Given the description of an element on the screen output the (x, y) to click on. 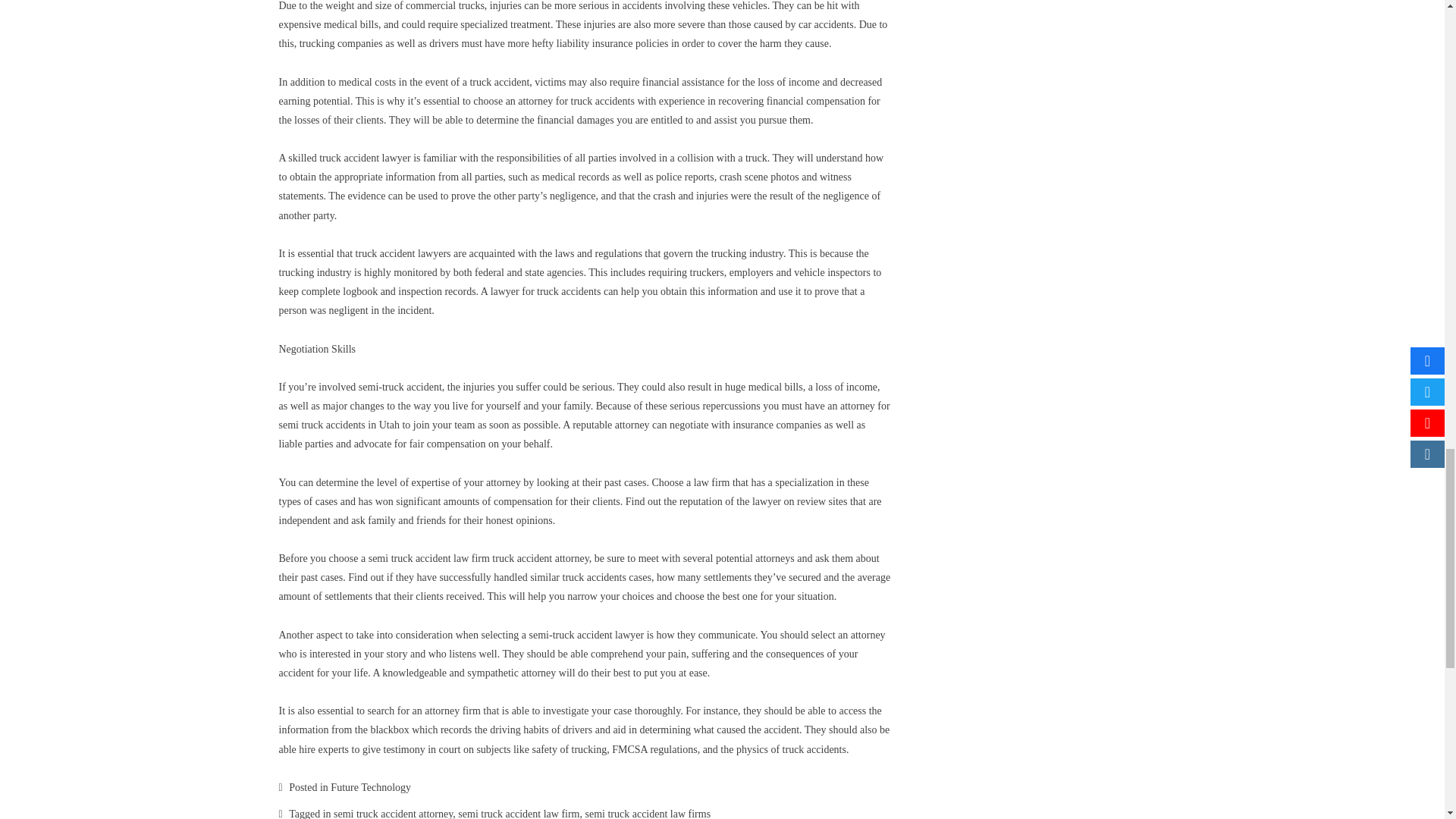
semi truck accident law firms (648, 813)
semi truck accident law firm (518, 813)
semi truck accident attorney (392, 813)
Future Technology (370, 787)
semi truck accident law firm (428, 558)
